Given the description of an element on the screen output the (x, y) to click on. 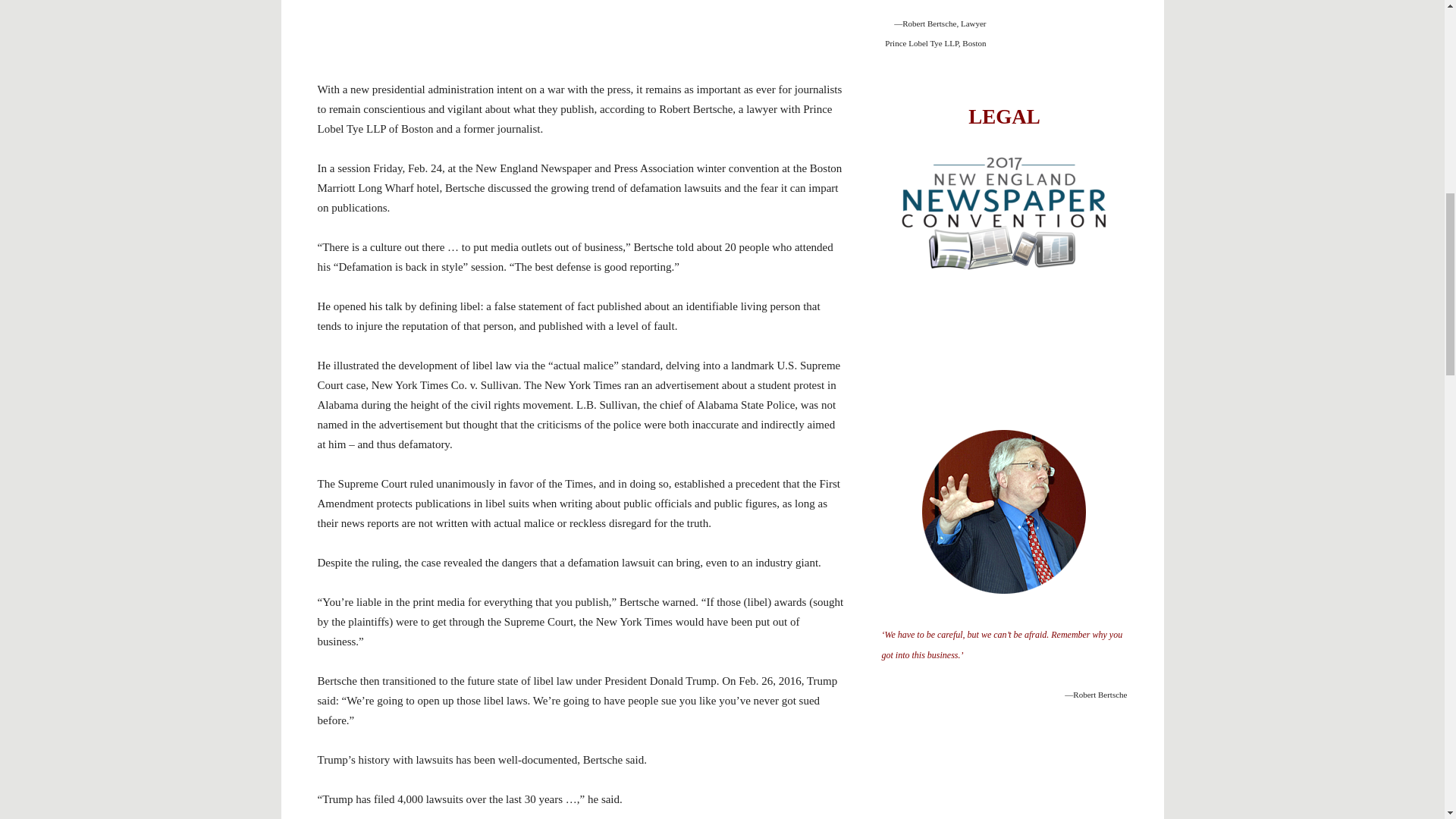
2017-New-Engand-Newspaper-Convention-logo (1003, 213)
Rob-Bertsche-expert-media-lawyer (1003, 512)
